Given the description of an element on the screen output the (x, y) to click on. 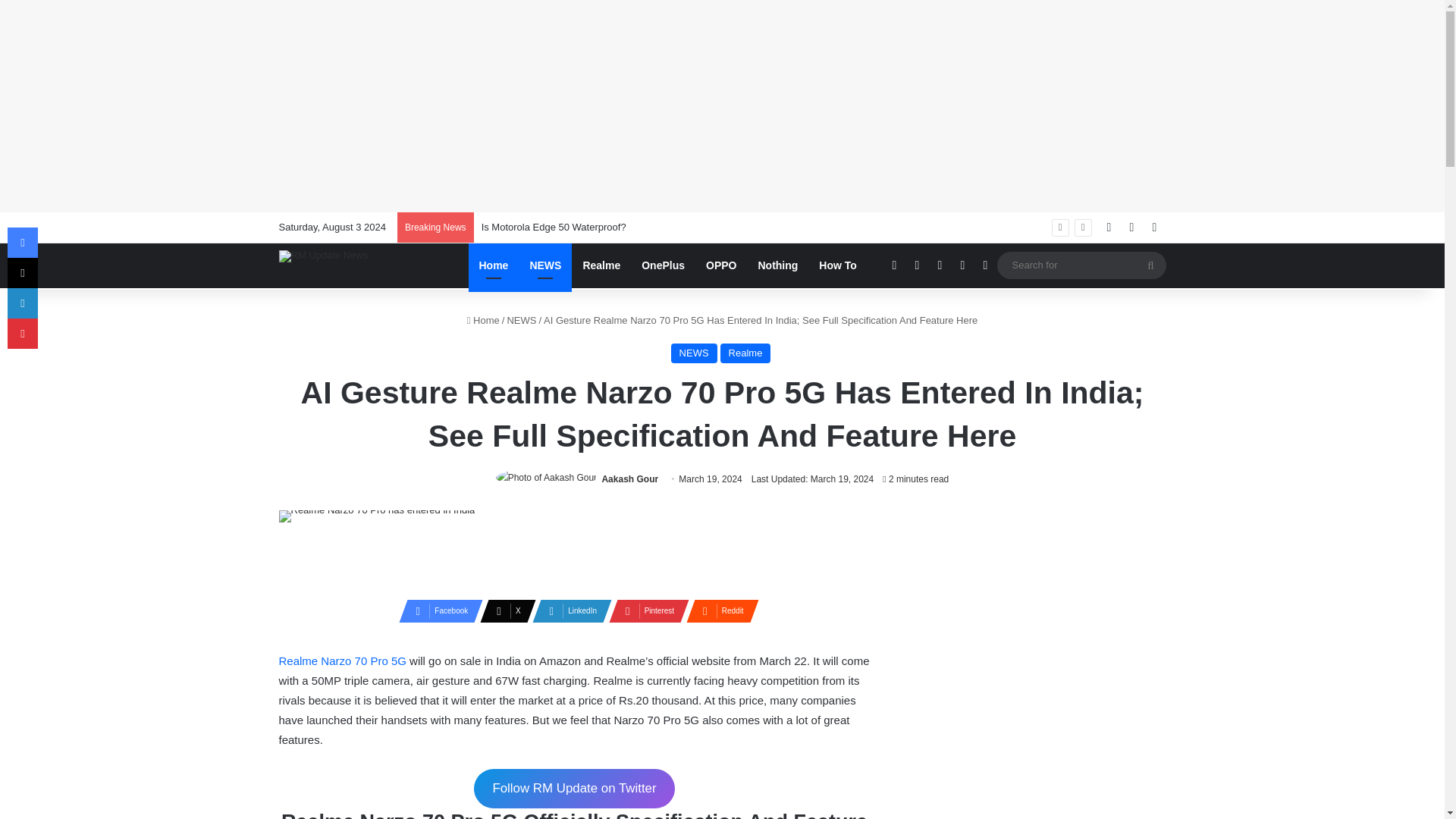
Is Motorola Edge 50 Waterproof? (553, 226)
Follow RM Update on Twitter (574, 789)
OPPO (720, 265)
Realme (745, 353)
OnePlus (662, 265)
LinkedIn (567, 610)
X (503, 610)
Aakash Gour (629, 479)
NEWS (520, 319)
Pinterest (643, 610)
Facebook (436, 610)
RM Update News (323, 256)
NEWS (694, 353)
Home (483, 319)
Pinterest (643, 610)
